Given the description of an element on the screen output the (x, y) to click on. 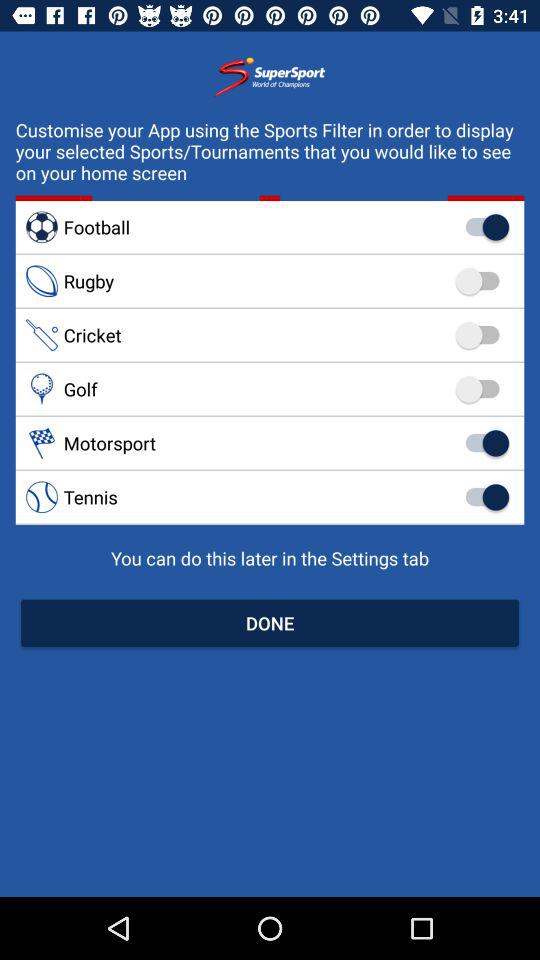
flip until football item (269, 226)
